Given the description of an element on the screen output the (x, y) to click on. 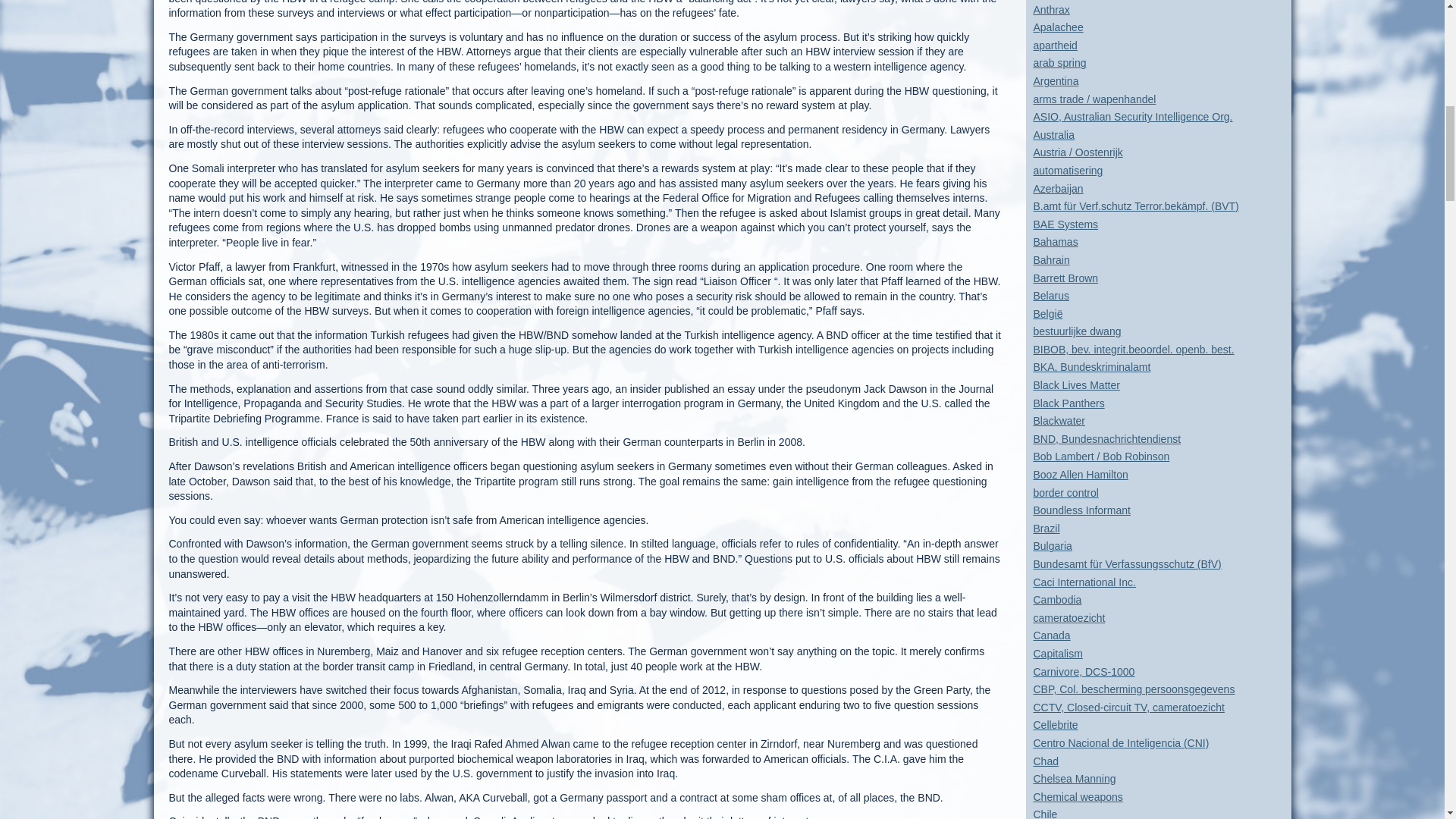
BAE Systems (1064, 224)
Apalachee (1057, 27)
ASIO, Australian Security Intelligence Org. (1131, 116)
apartheid (1054, 45)
arab spring (1059, 62)
Azerbaijan (1057, 188)
Bahamas (1054, 241)
Belarus (1050, 295)
Australia (1053, 134)
automatisering (1067, 170)
Bahrain (1050, 259)
Barrett Brown (1064, 277)
Argentina (1055, 80)
Anthrax (1050, 9)
